Given the description of an element on the screen output the (x, y) to click on. 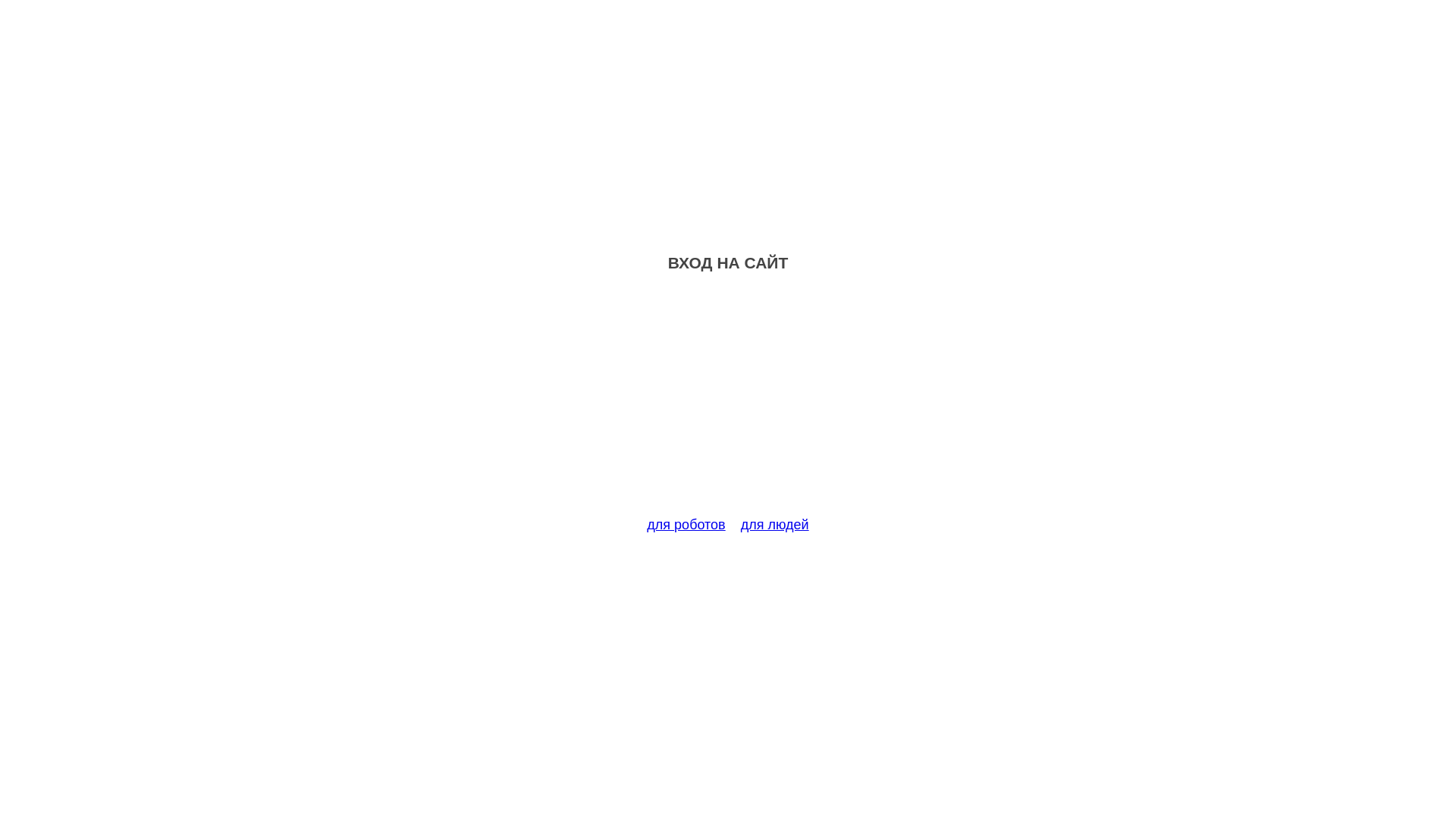
Advertisement Element type: hover (727, 403)
